Given the description of an element on the screen output the (x, y) to click on. 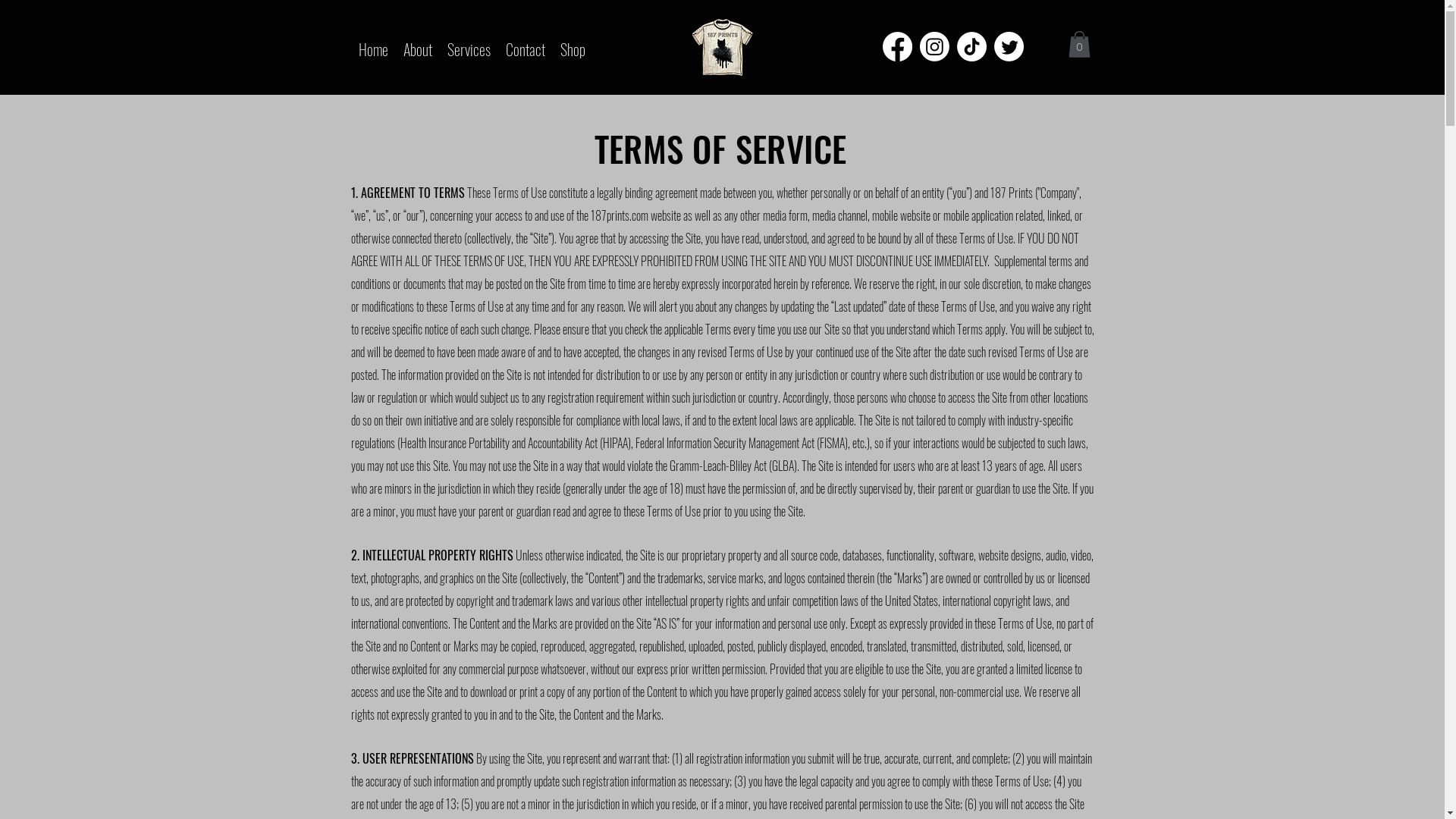
About Element type: text (417, 46)
Shop Element type: text (572, 46)
Home Element type: text (372, 46)
Contact Element type: text (524, 46)
0 Element type: text (1078, 44)
